Given the description of an element on the screen output the (x, y) to click on. 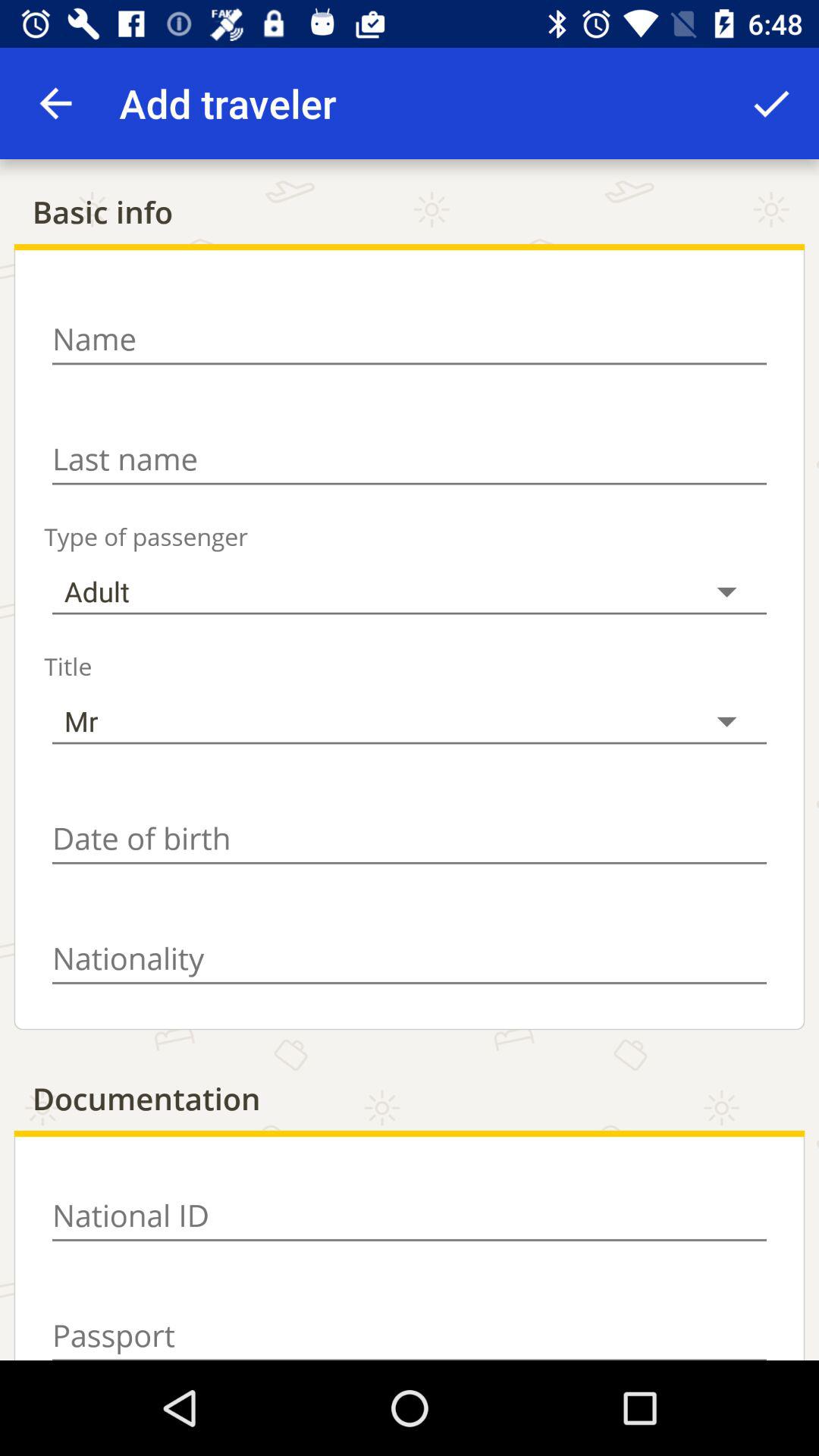
field for last name (409, 459)
